Given the description of an element on the screen output the (x, y) to click on. 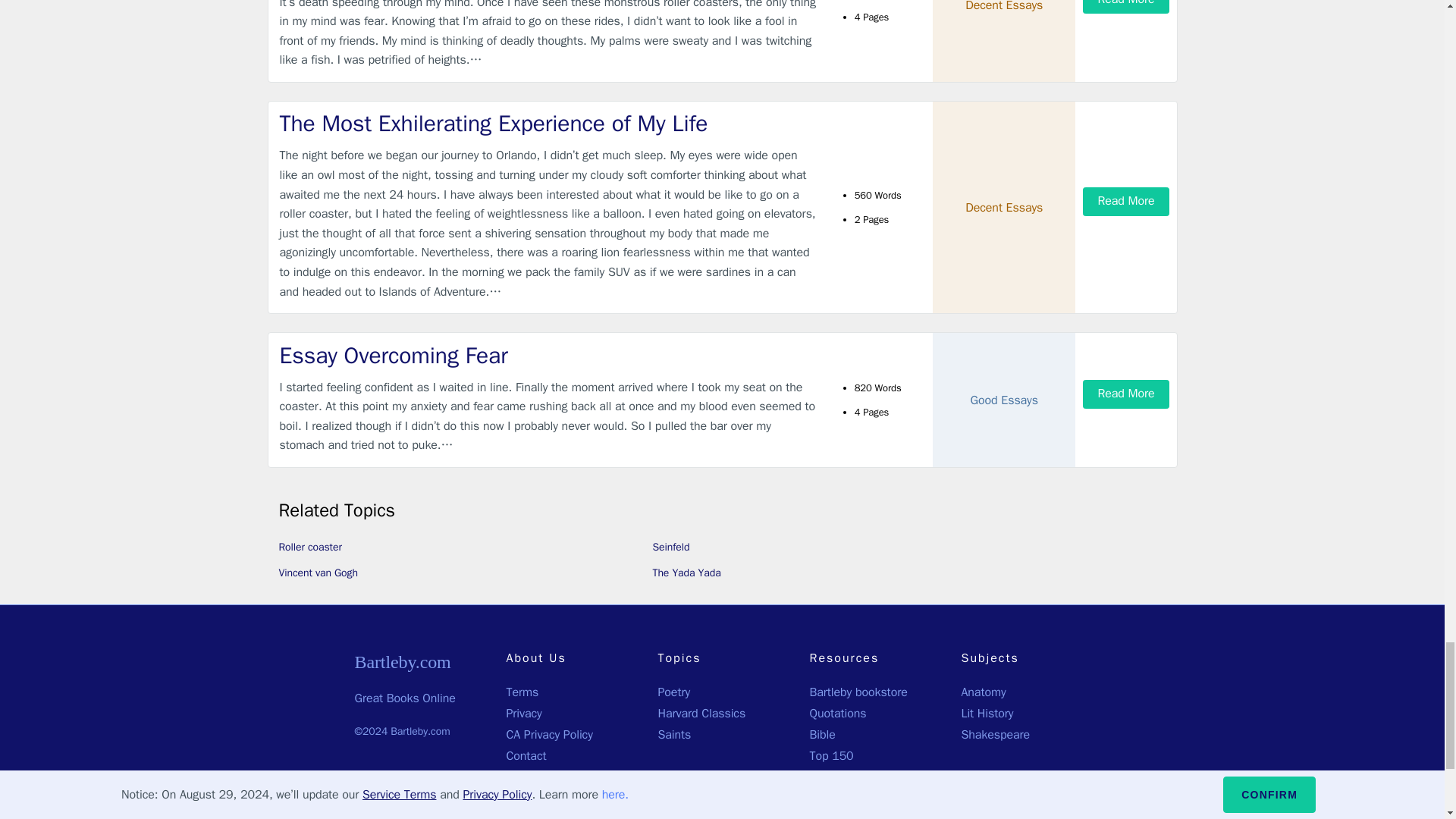
Seinfeld (670, 546)
Vincent van Gogh (318, 572)
Roller coaster (310, 546)
The Yada Yada (686, 572)
